Given the description of an element on the screen output the (x, y) to click on. 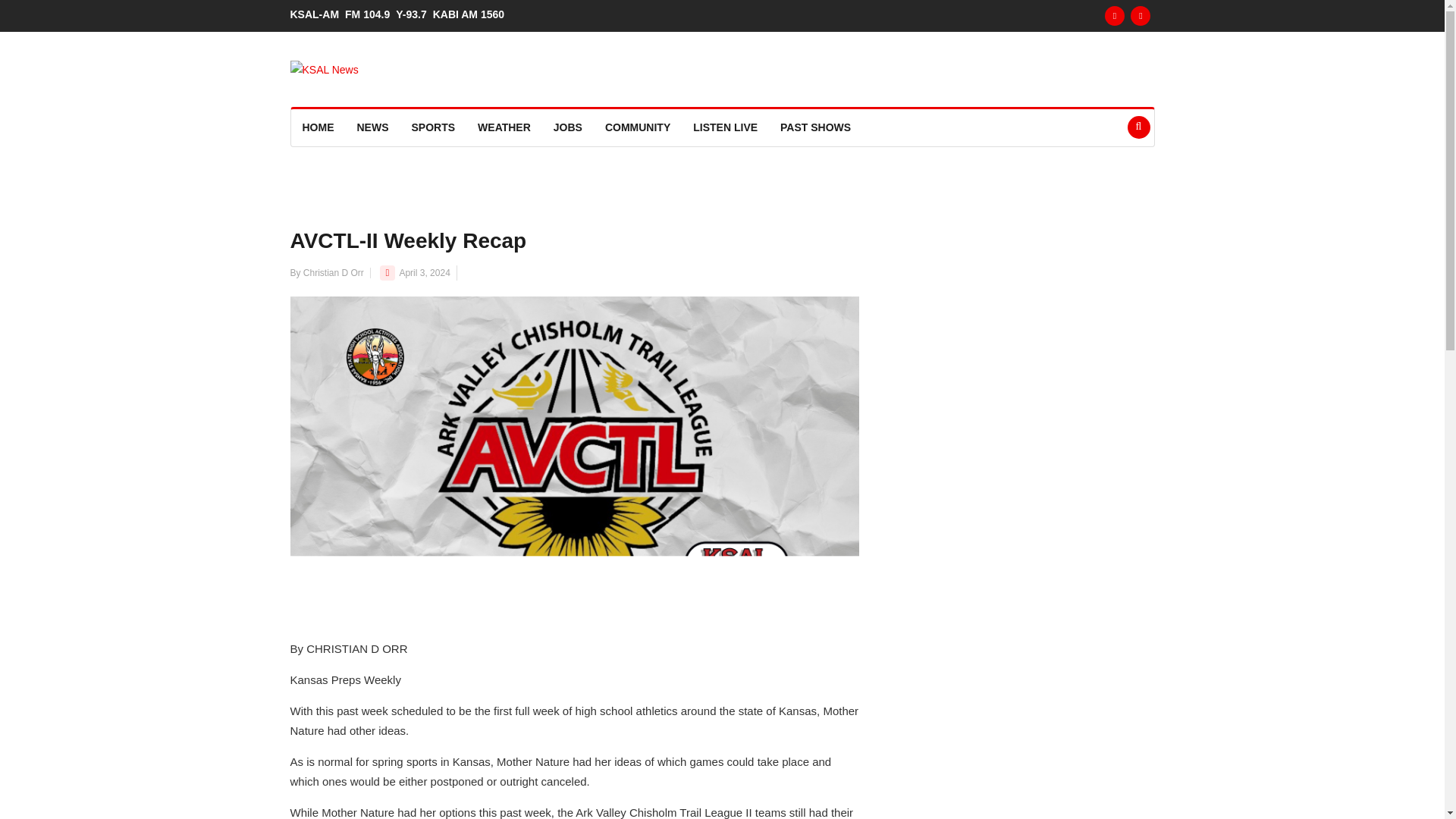
KSAL-AM (317, 13)
KABI AM 1560 (471, 13)
WEATHER (503, 127)
FM 104.9 (370, 13)
Twitter (1140, 15)
JOBS (567, 127)
SPORTS (433, 127)
Y-93.7 (414, 13)
HOME (318, 127)
COMMUNITY (637, 127)
Facebook (1114, 15)
NEWS (373, 127)
